Given the description of an element on the screen output the (x, y) to click on. 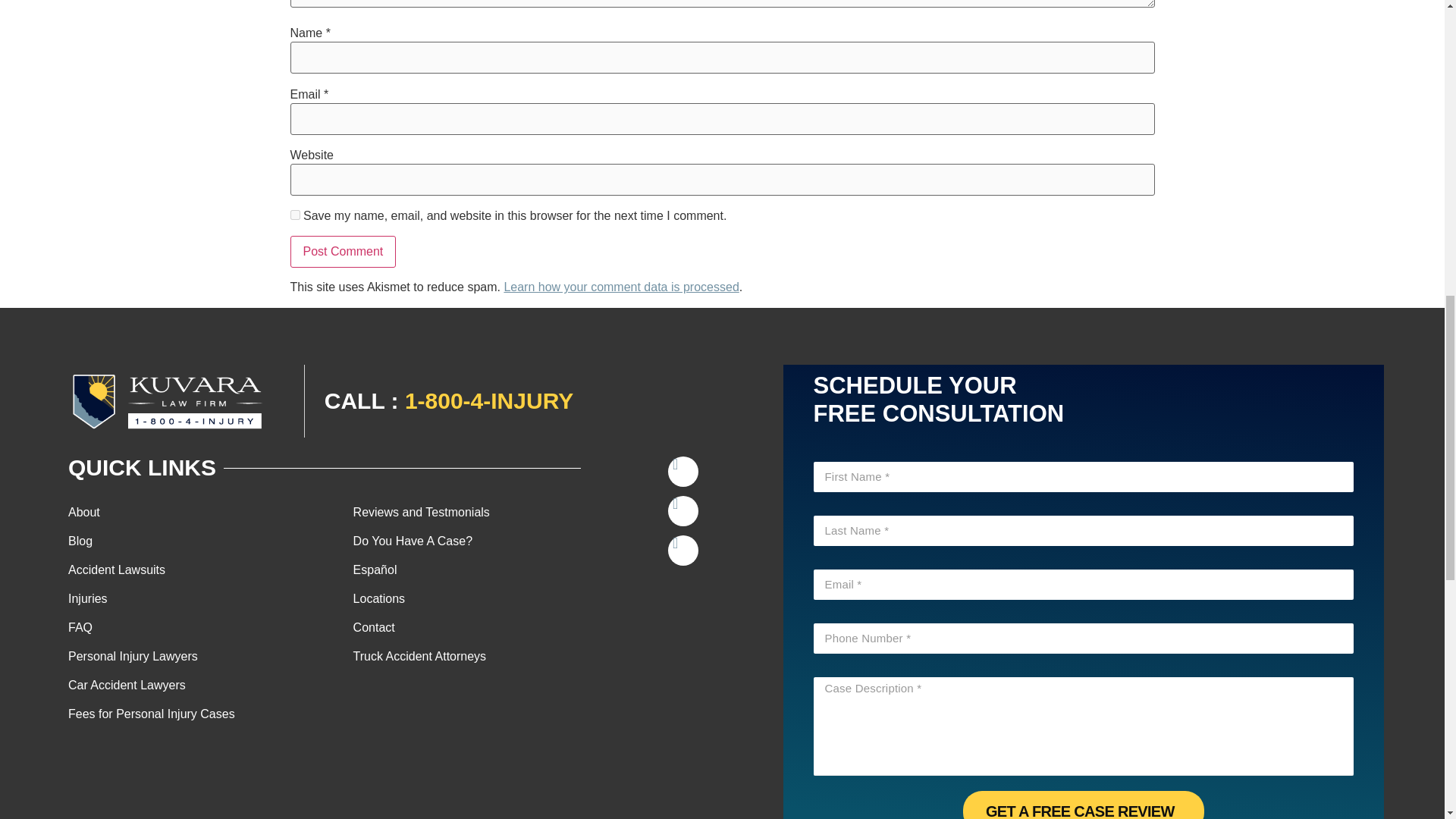
Get a FREE Case Review (1083, 805)
yes (294, 214)
Post Comment (342, 251)
